Given the description of an element on the screen output the (x, y) to click on. 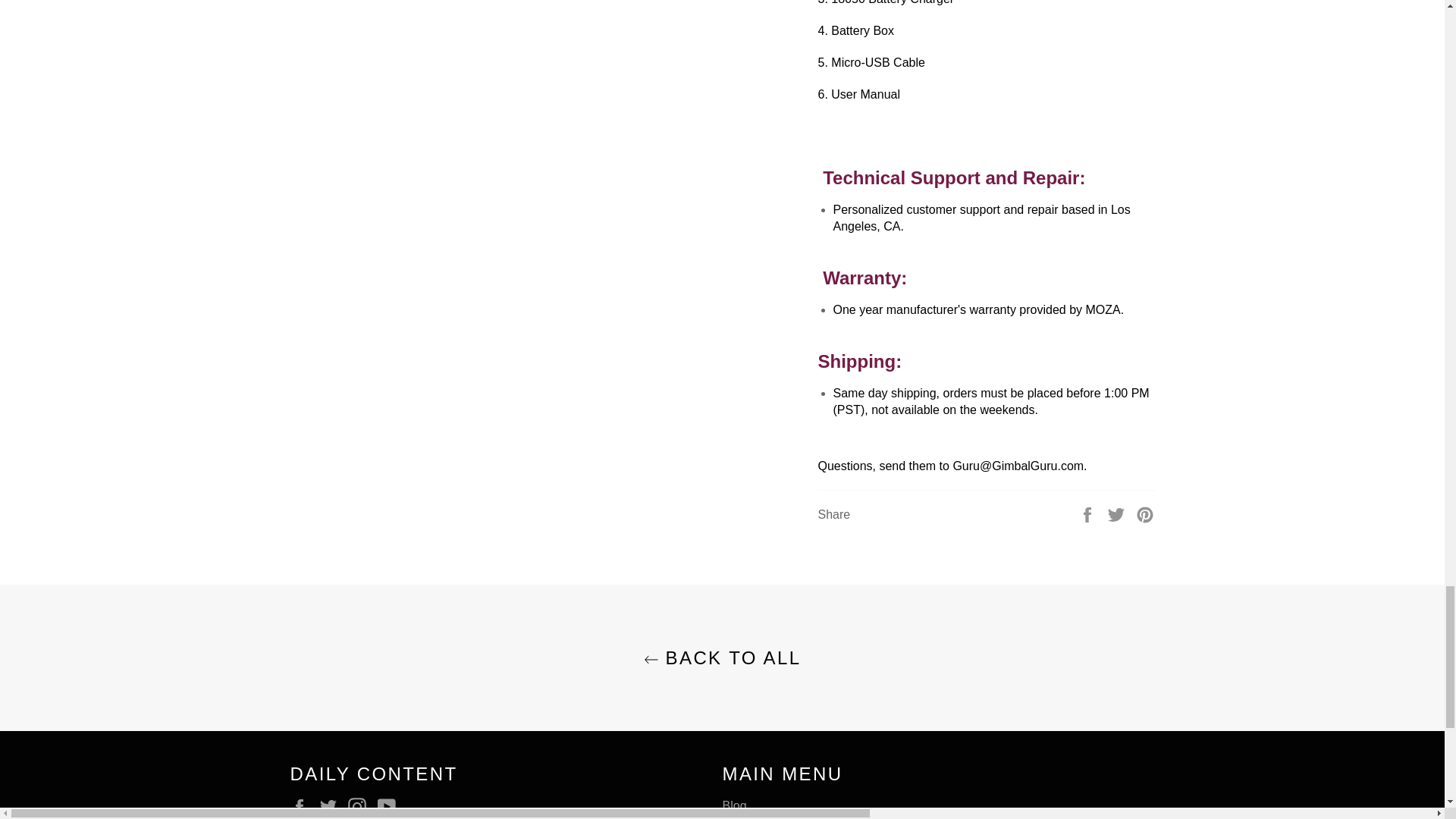
Gimbal Guru on Instagram (360, 806)
Gimbal Guru on YouTube (390, 806)
Gimbal Guru on Facebook (302, 806)
Gimbal Guru on Twitter (331, 806)
Share on Facebook (1088, 513)
Tweet on Twitter (1117, 513)
Pin on Pinterest (1144, 513)
